Given the description of an element on the screen output the (x, y) to click on. 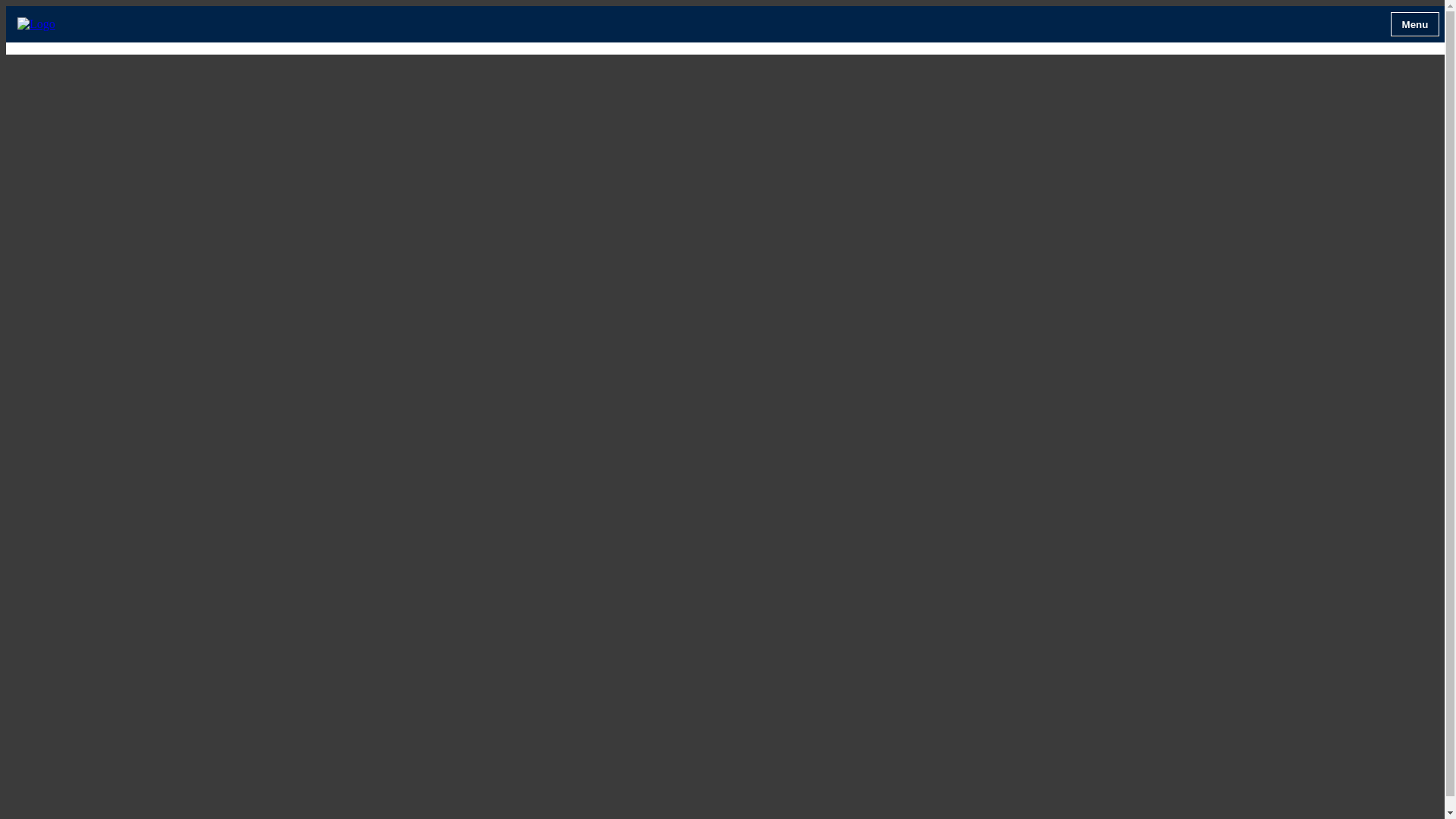
Menu (1414, 24)
